Given the description of an element on the screen output the (x, y) to click on. 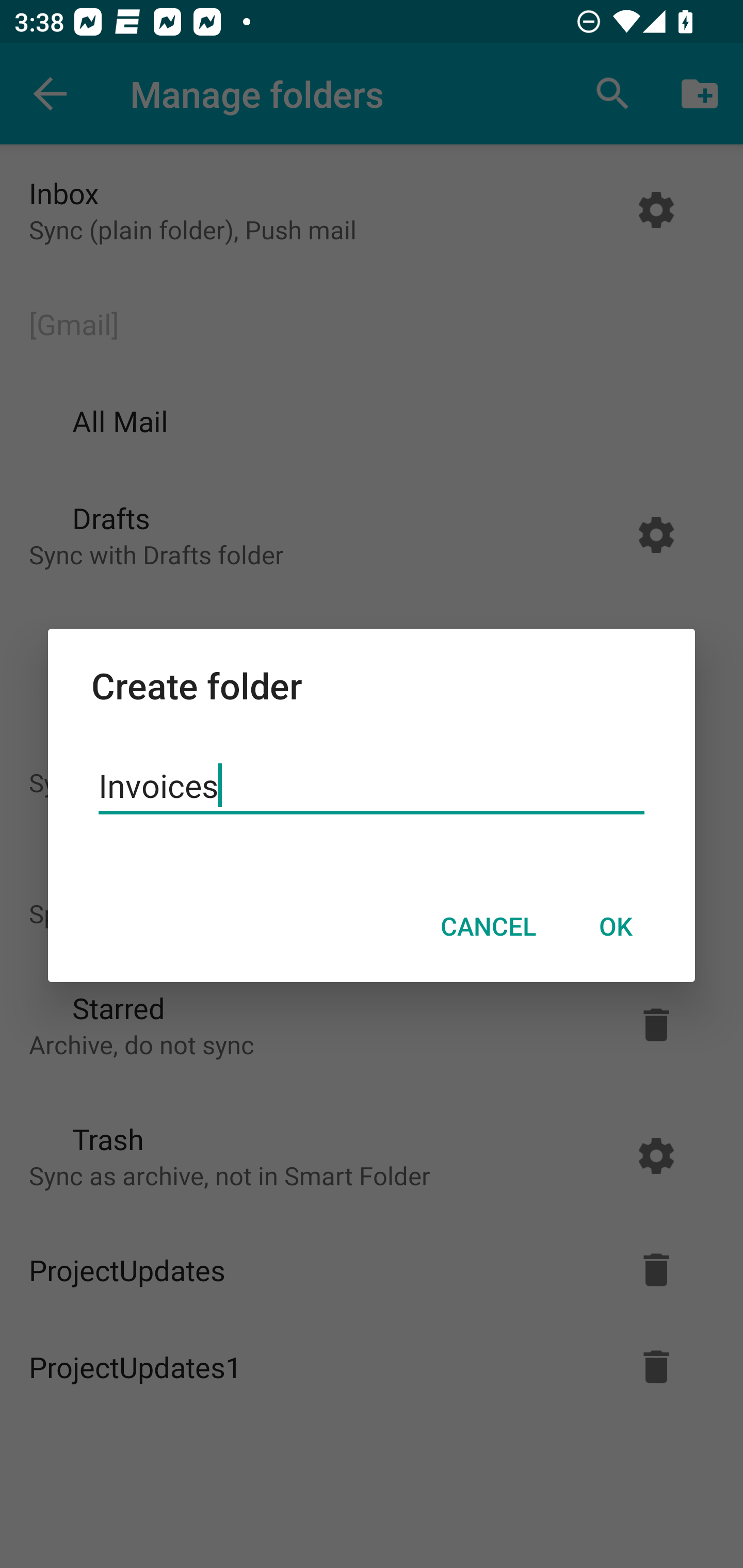
Invoices (371, 785)
CANCEL (488, 926)
OK (615, 926)
